Given the description of an element on the screen output the (x, y) to click on. 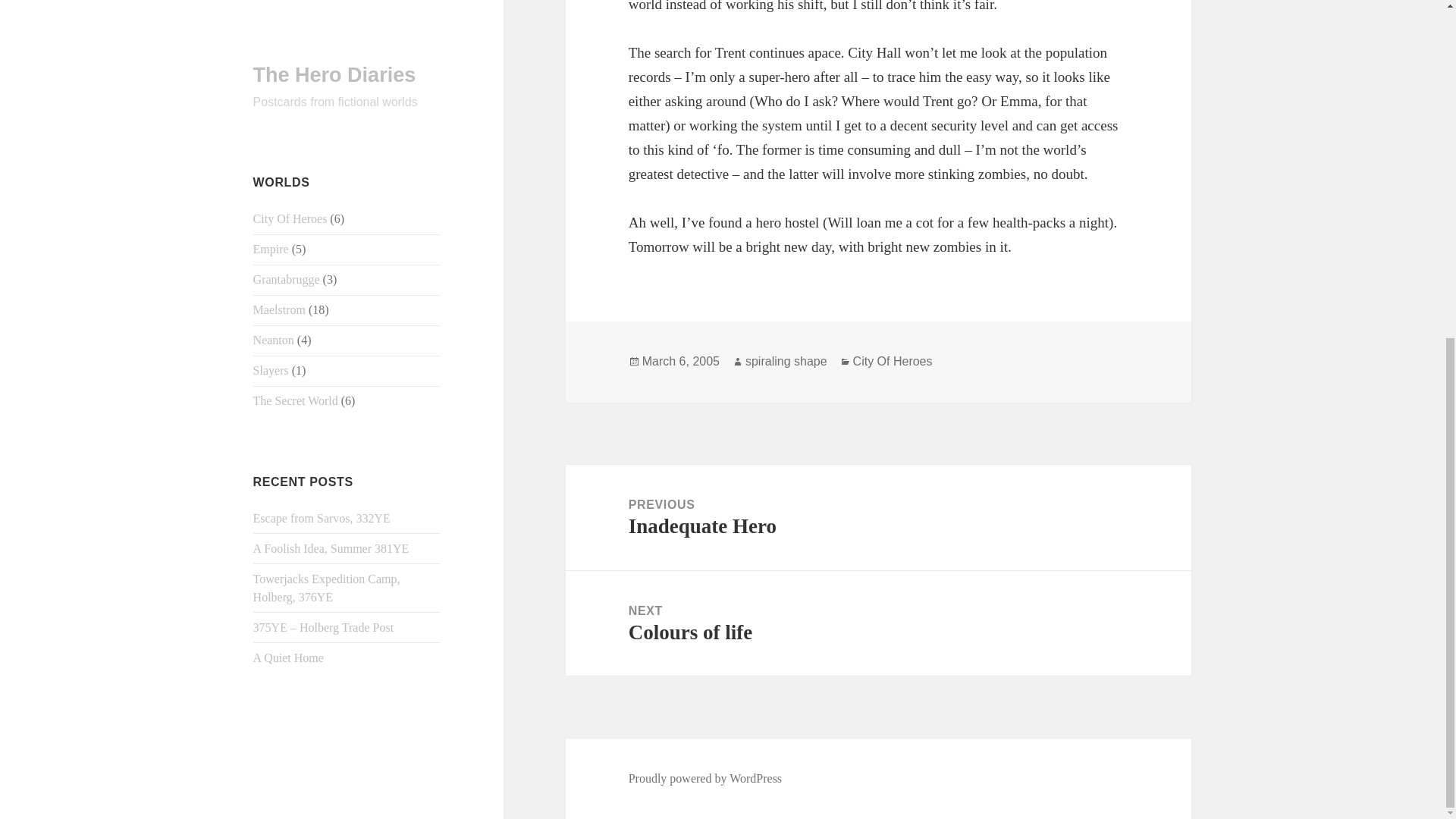
spiraling shape (878, 517)
City Of Heroes (786, 361)
A Quiet Home (878, 623)
March 6, 2005 (893, 361)
Proudly powered by WordPress (288, 88)
Towerjacks Expedition Camp, Holberg, 376YE (680, 361)
